Given the description of an element on the screen output the (x, y) to click on. 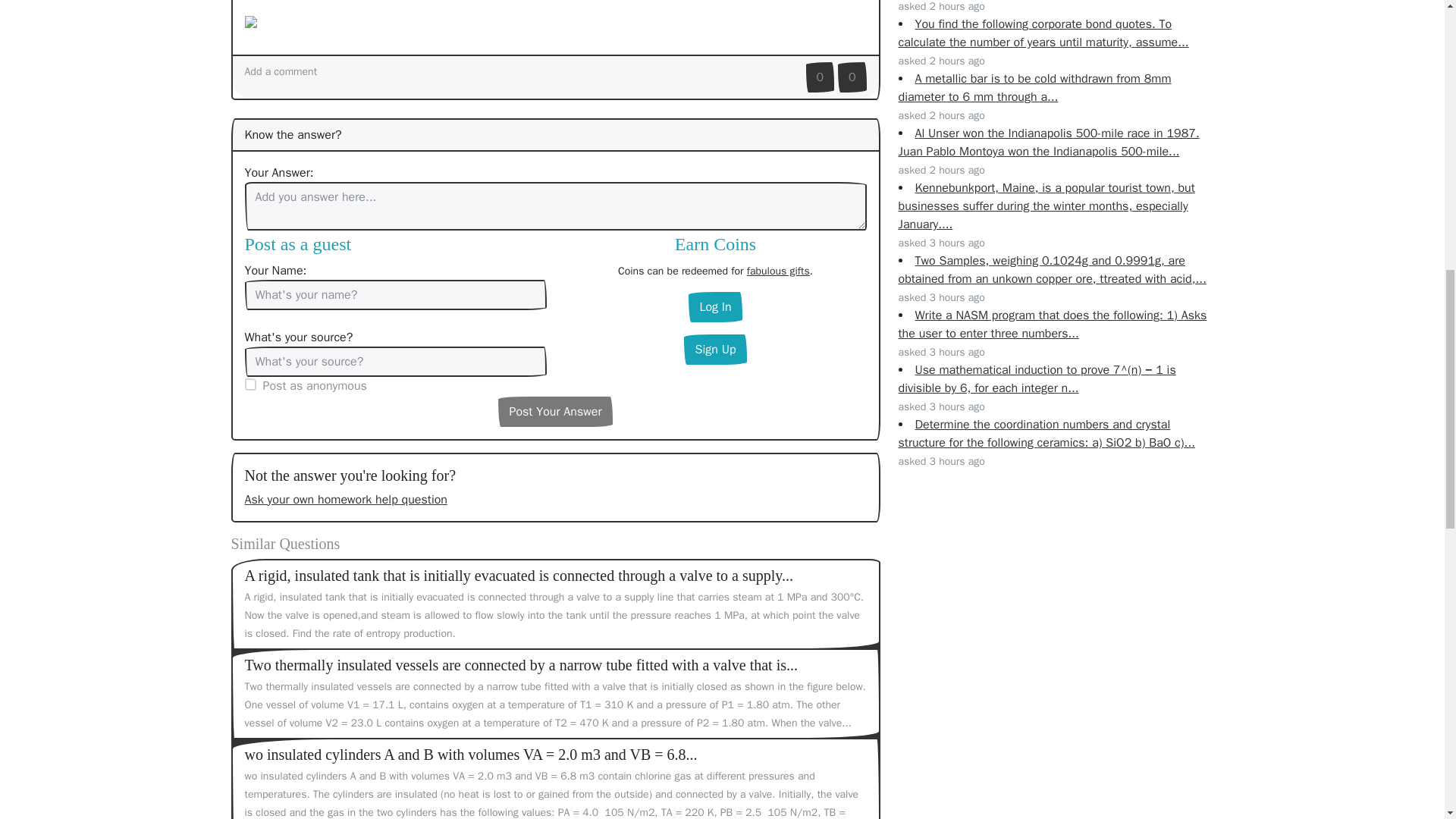
Post Your Answer (554, 411)
Add a comment (280, 71)
fabulous gifts (777, 270)
0 (820, 77)
This is unclear or not useful (852, 77)
Ask your own homework help question (345, 499)
Sign Up (714, 349)
This is useful and clear (820, 77)
Log In (714, 306)
0 (852, 77)
